Given the description of an element on the screen output the (x, y) to click on. 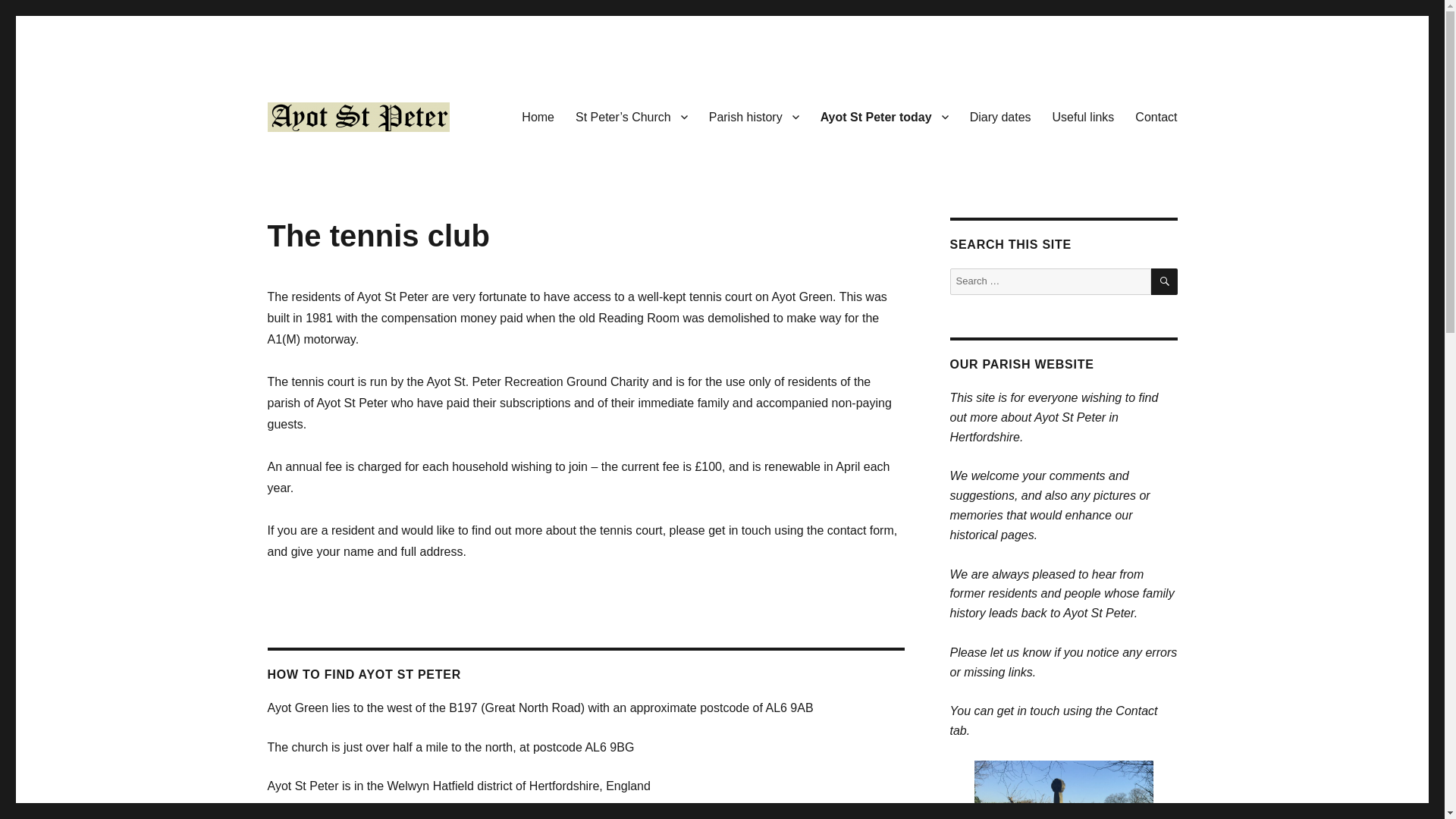
Ayot St Peter (332, 155)
Parish history (753, 116)
Home (537, 116)
